Given the description of an element on the screen output the (x, y) to click on. 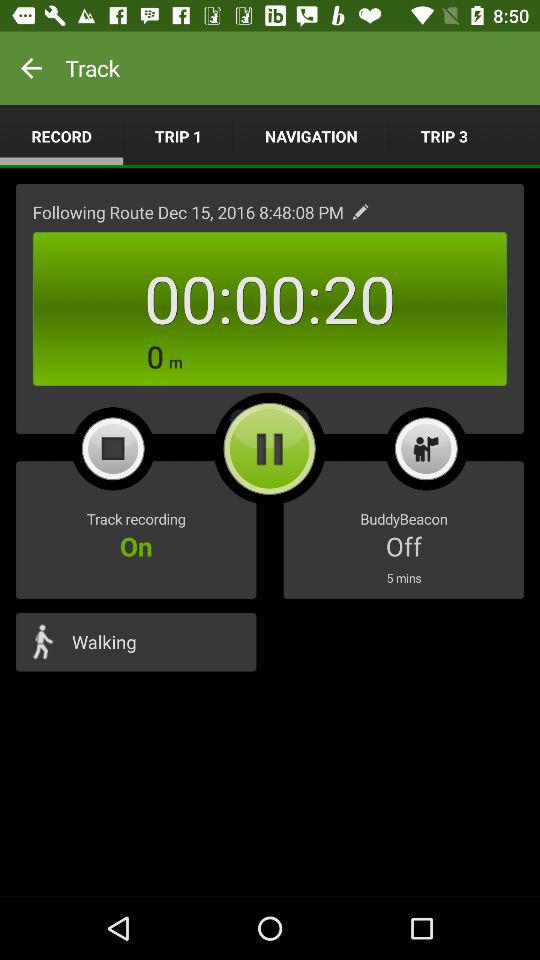
open the icon next to trip 3 item (311, 136)
